Given the description of an element on the screen output the (x, y) to click on. 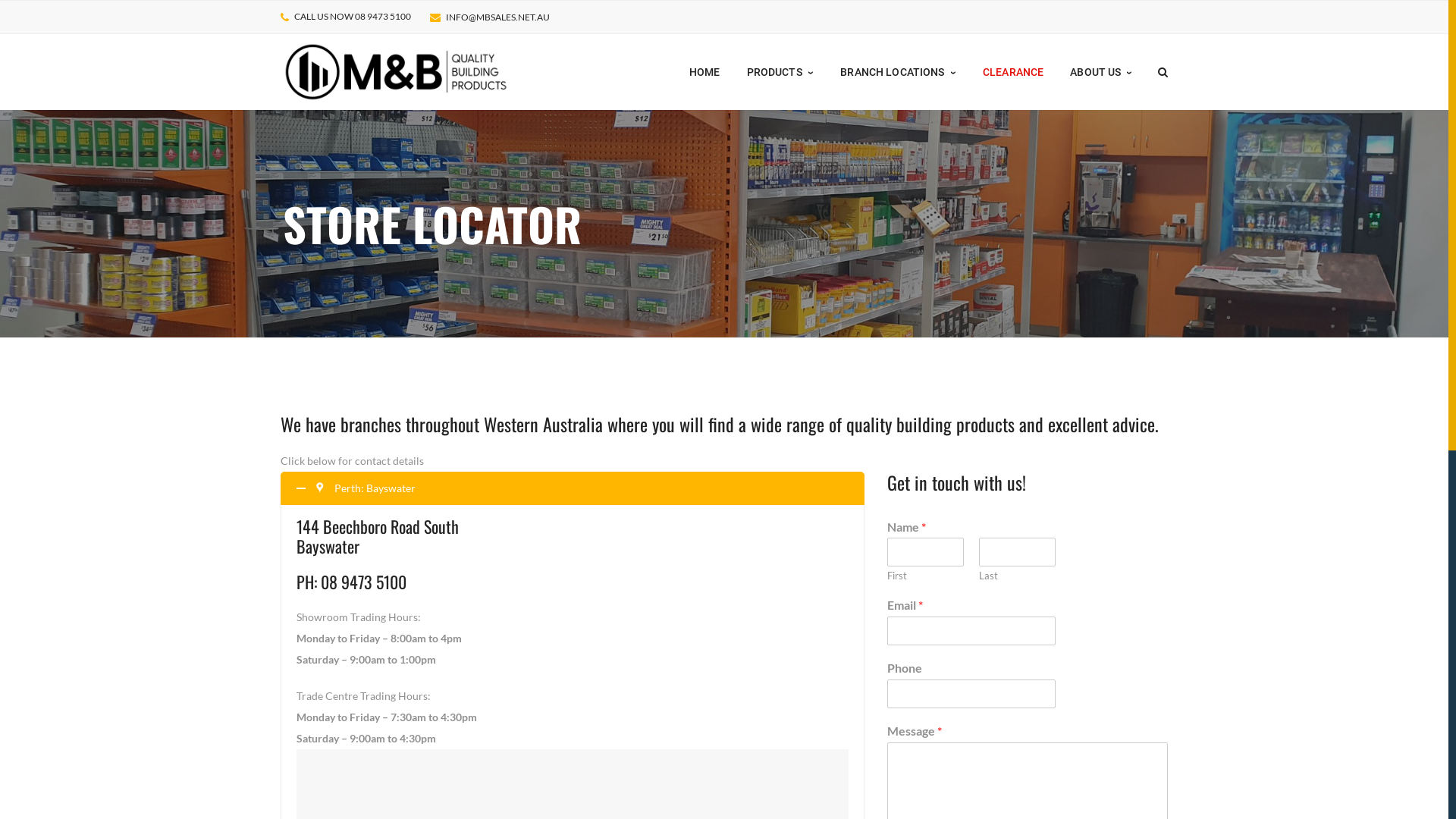
HOME Element type: text (704, 71)
INFO@MBSALES.NET.AU Element type: text (497, 16)
BRANCH LOCATIONS Element type: text (898, 71)
PRODUCTS Element type: text (780, 71)
Perth: Bayswater Element type: text (572, 488)
CLEARANCE Element type: text (1012, 71)
mbsales.com.au - M&B Sales Pty Ltd Element type: hover (395, 70)
ABOUT US Element type: text (1101, 71)
